Given the description of an element on the screen output the (x, y) to click on. 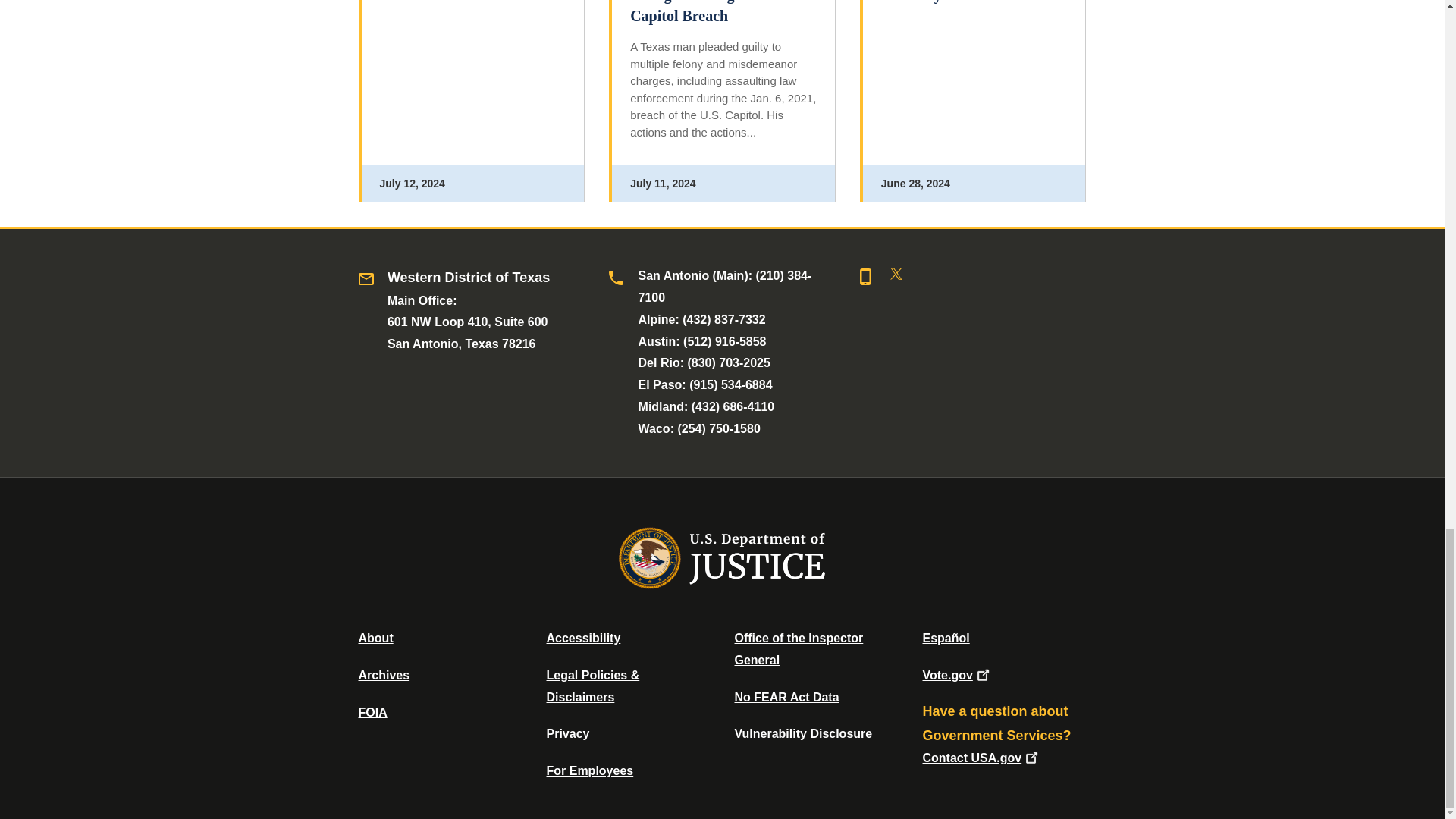
Data Posted Pursuant To The No Fear Act (785, 697)
About DOJ (375, 637)
Accessibility Statement (583, 637)
Legal Policies and Disclaimers (592, 686)
Office of Information Policy (372, 712)
Department of Justice Archive (383, 675)
For Employees (589, 770)
